Given the description of an element on the screen output the (x, y) to click on. 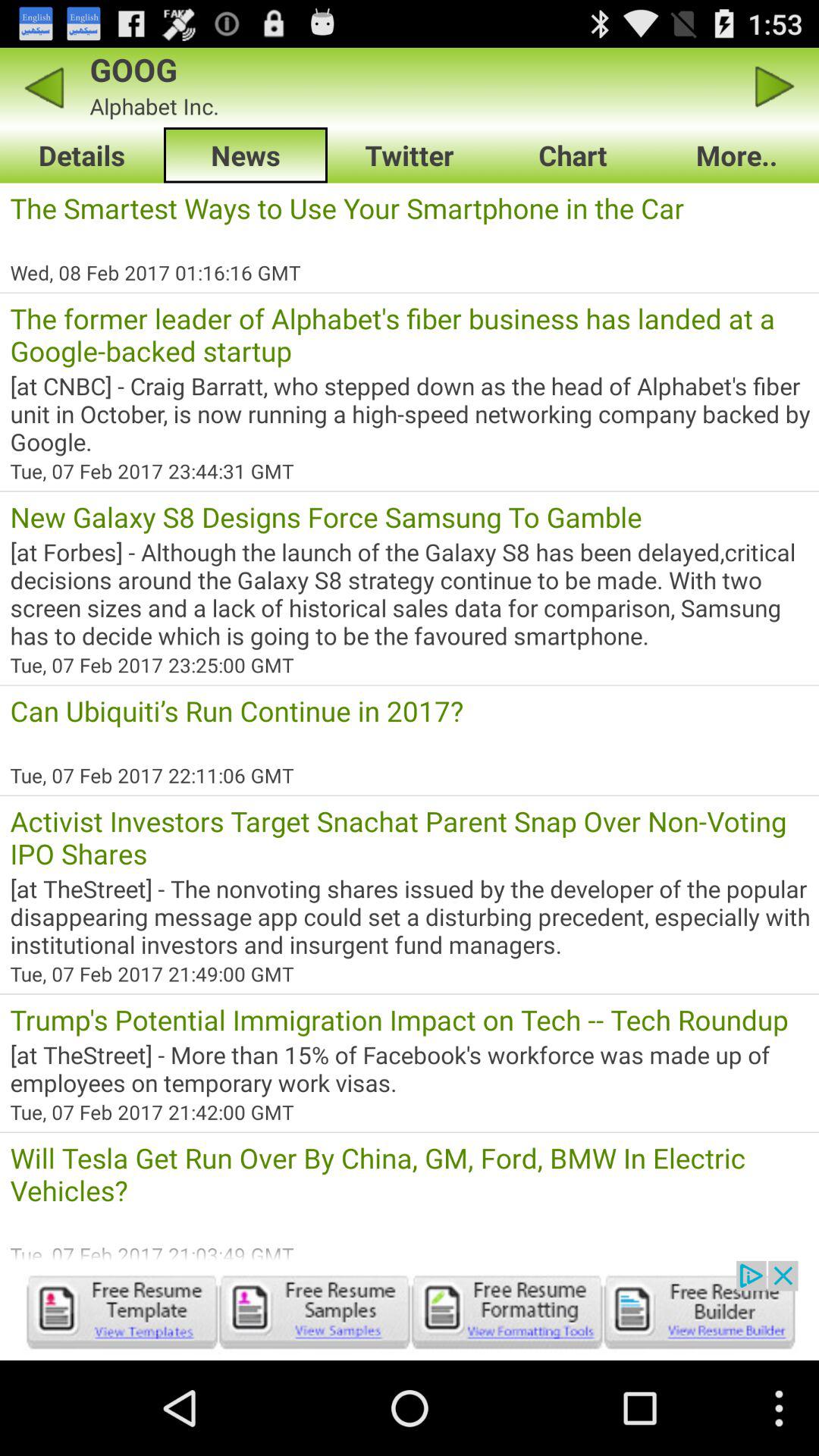
previous page (43, 87)
